Given the description of an element on the screen output the (x, y) to click on. 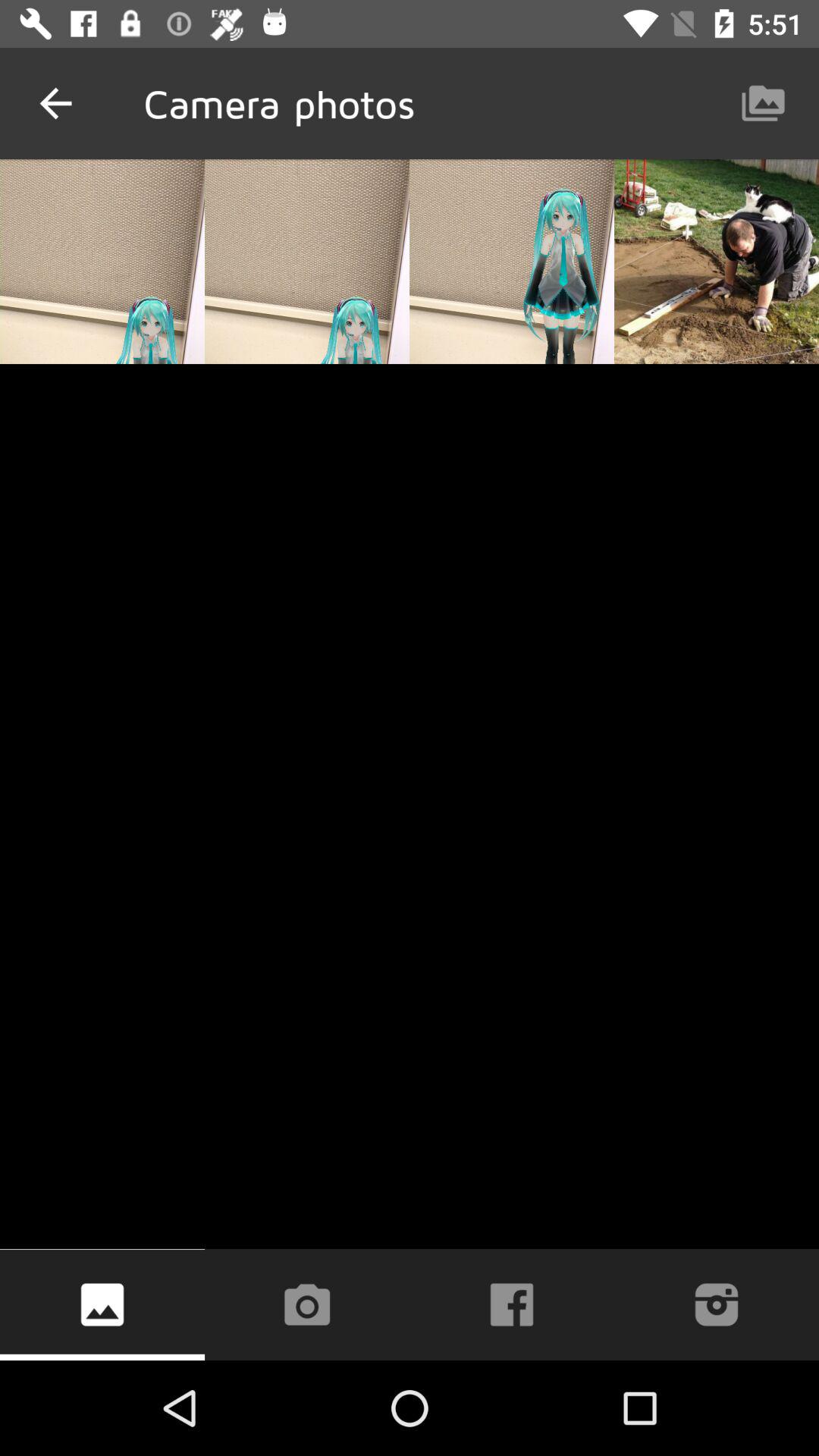
photo album (102, 1304)
